Given the description of an element on the screen output the (x, y) to click on. 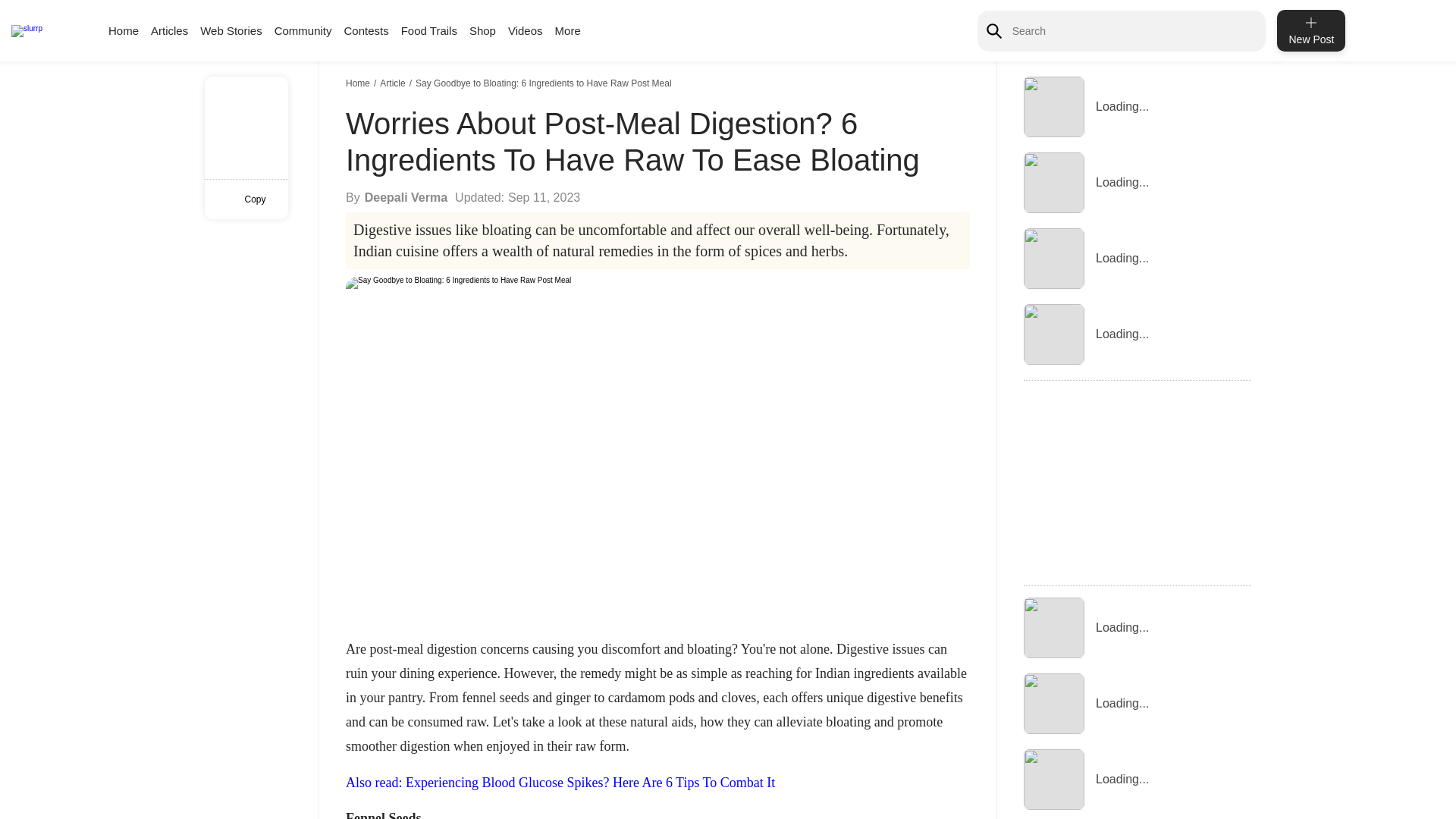
Web Stories (231, 30)
Contests (365, 30)
Home (360, 82)
Home (122, 30)
Article (394, 82)
Food Trails (429, 30)
Videos (525, 30)
Shop (482, 30)
Community (303, 30)
Articles (169, 30)
New Post (1310, 30)
